Given the description of an element on the screen output the (x, y) to click on. 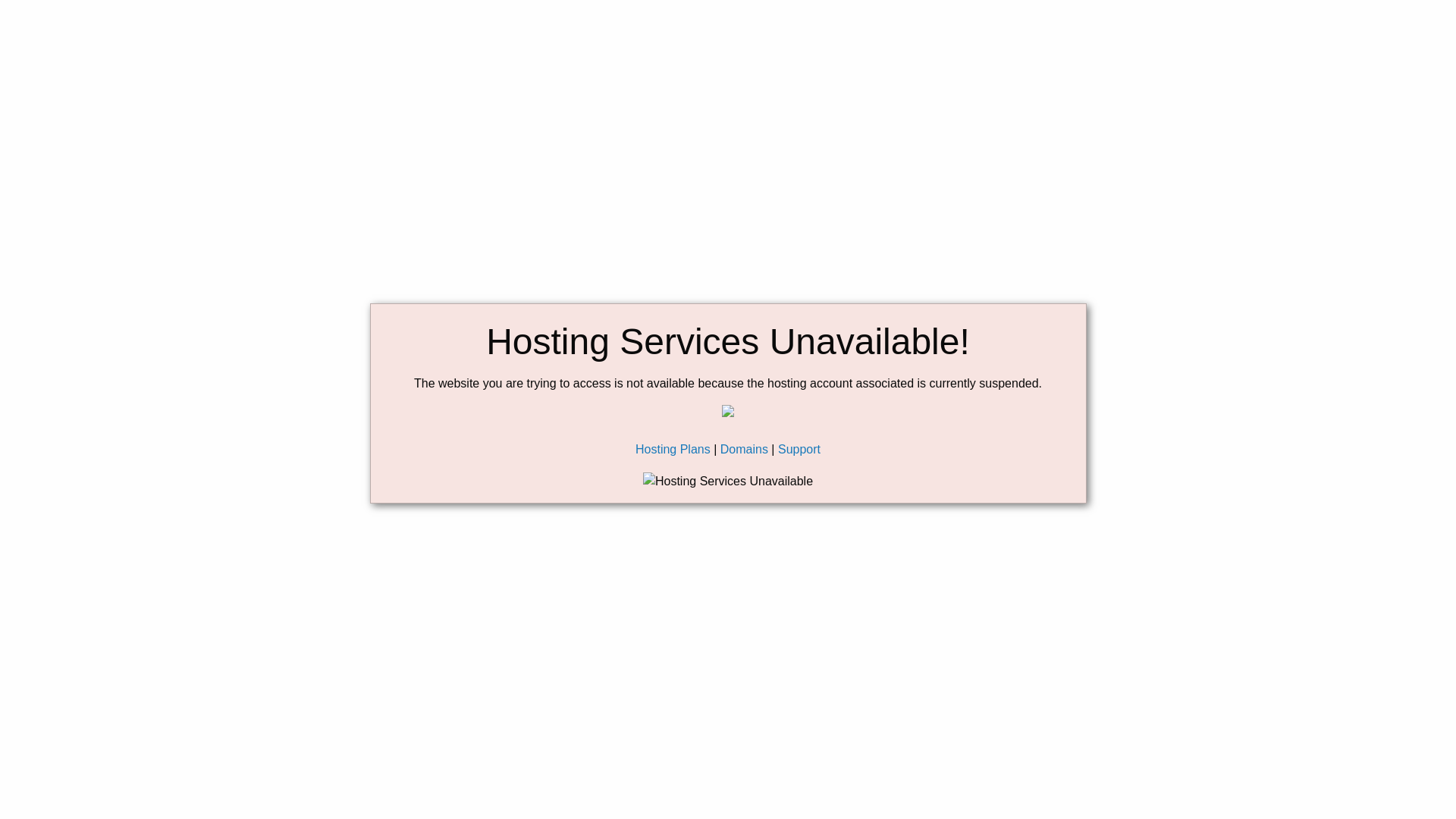
Domains (744, 449)
Hosting Services Unavailable (727, 481)
Hosting Plans (672, 449)
Support (799, 449)
